Given the description of an element on the screen output the (x, y) to click on. 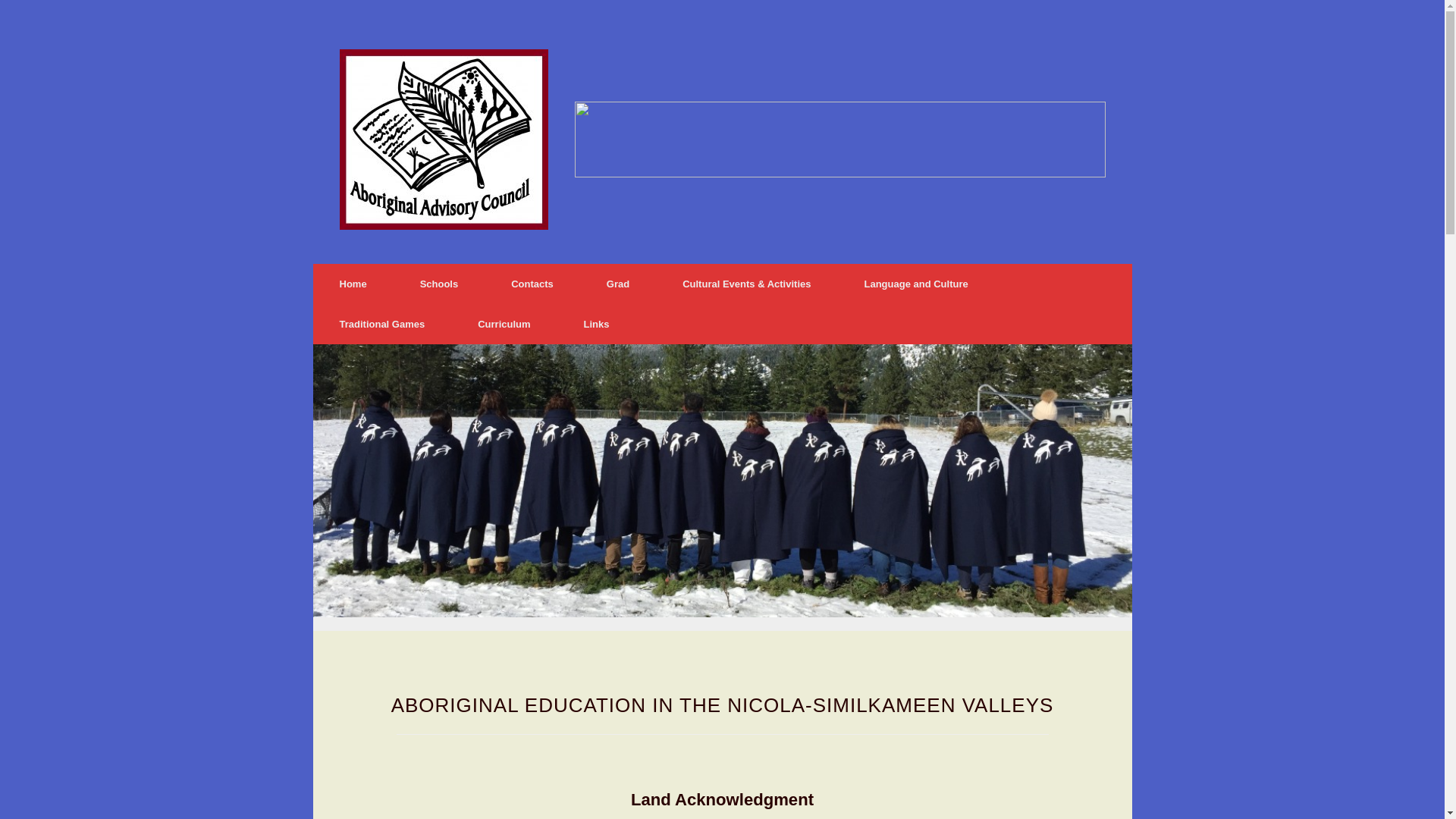
Traditional Games Element type: text (381, 324)
Schools Element type: text (439, 283)
Curriculum Element type: text (503, 324)
Grad Element type: text (617, 283)
Contacts Element type: text (532, 283)
Language and Culture Element type: text (915, 283)
Coldwater Culture Camp 2019 R Element type: hover (721, 480)
Home Element type: text (352, 283)
Links Element type: text (596, 324)
Cultural Events & Activities Element type: text (746, 283)
